Given the description of an element on the screen output the (x, y) to click on. 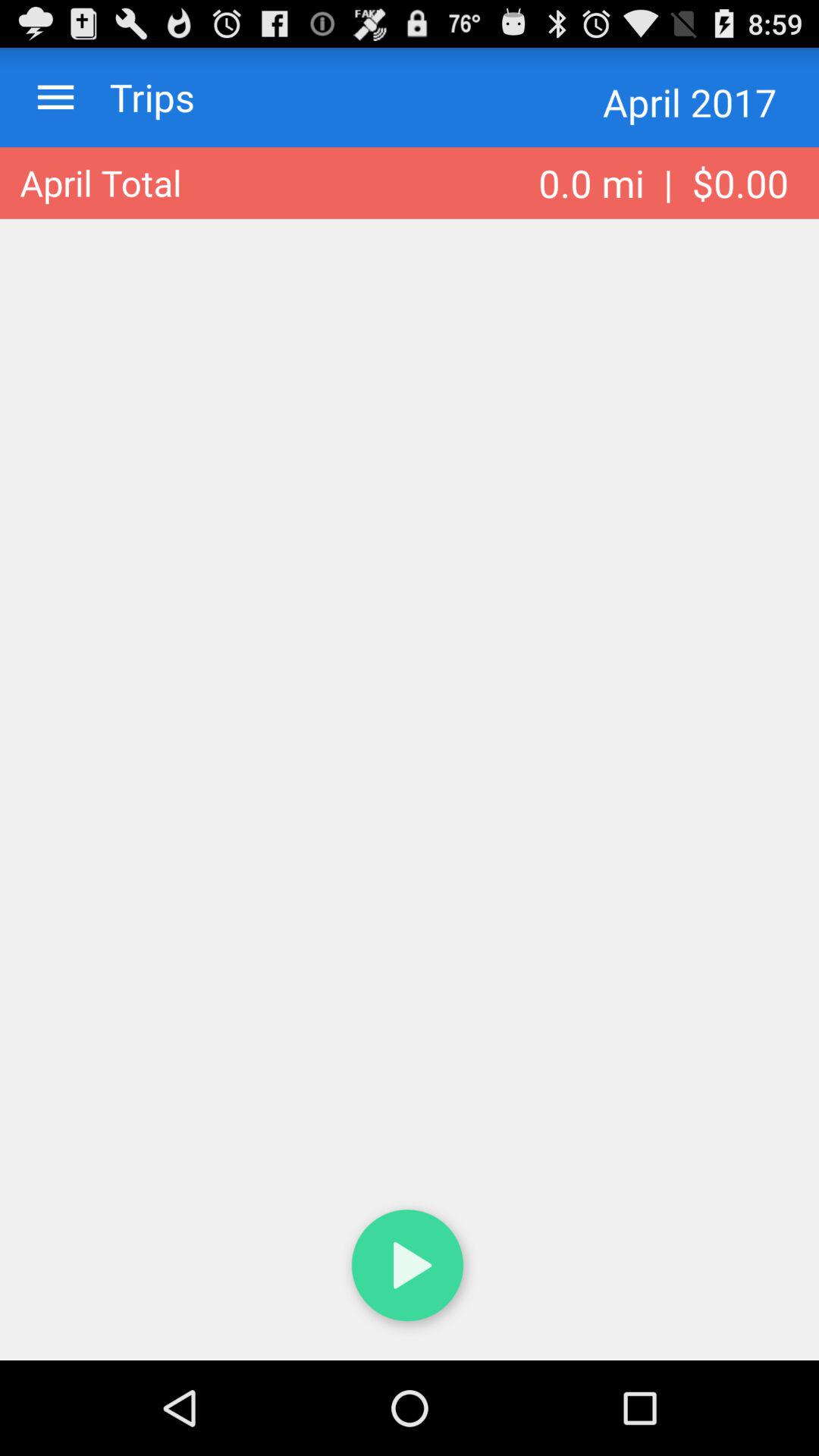
switch to play button (409, 1268)
